Given the description of an element on the screen output the (x, y) to click on. 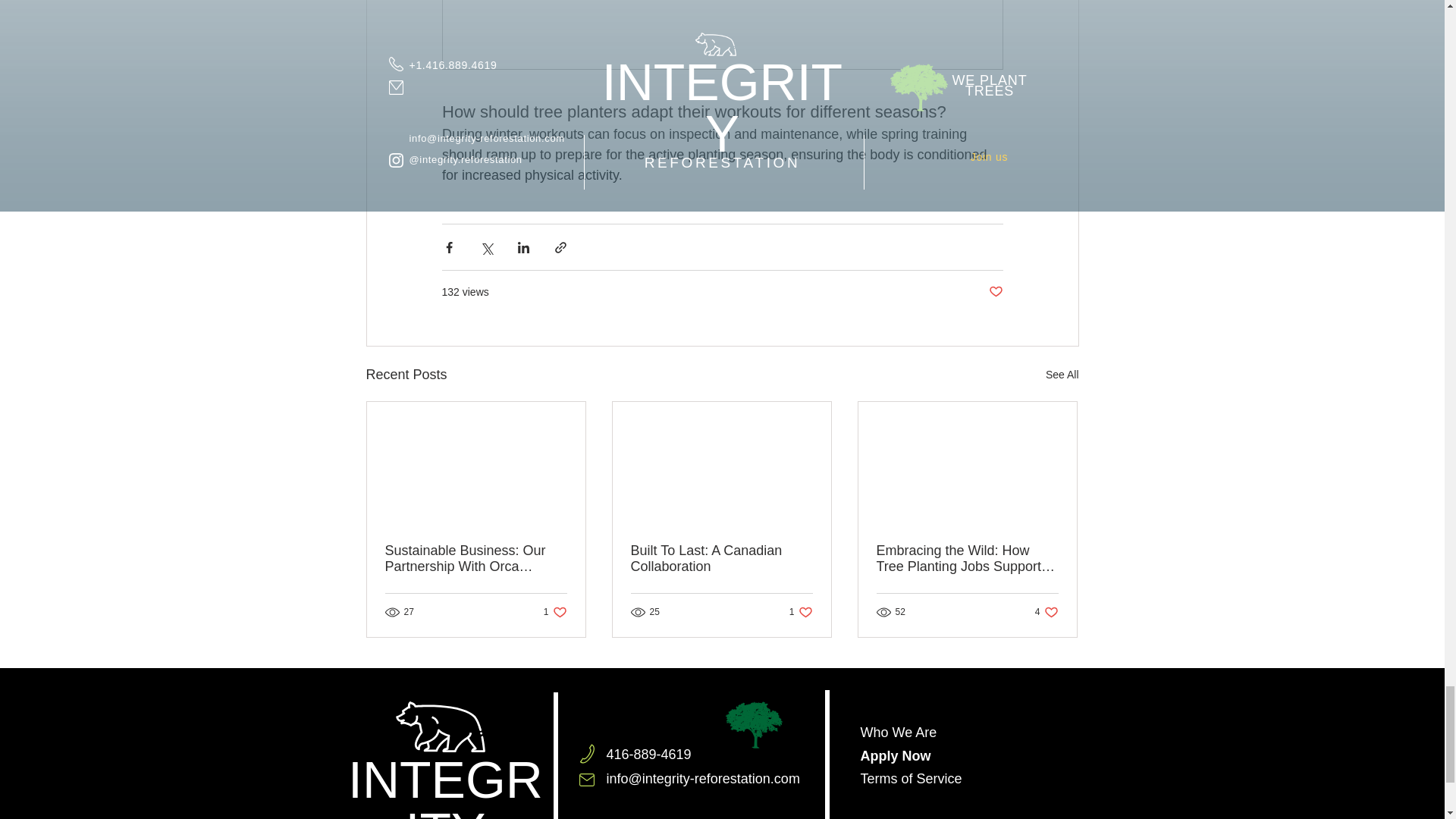
Post not marked as liked (800, 612)
Built To Last: A Canadian Collaboration (995, 292)
See All (555, 612)
